Given the description of an element on the screen output the (x, y) to click on. 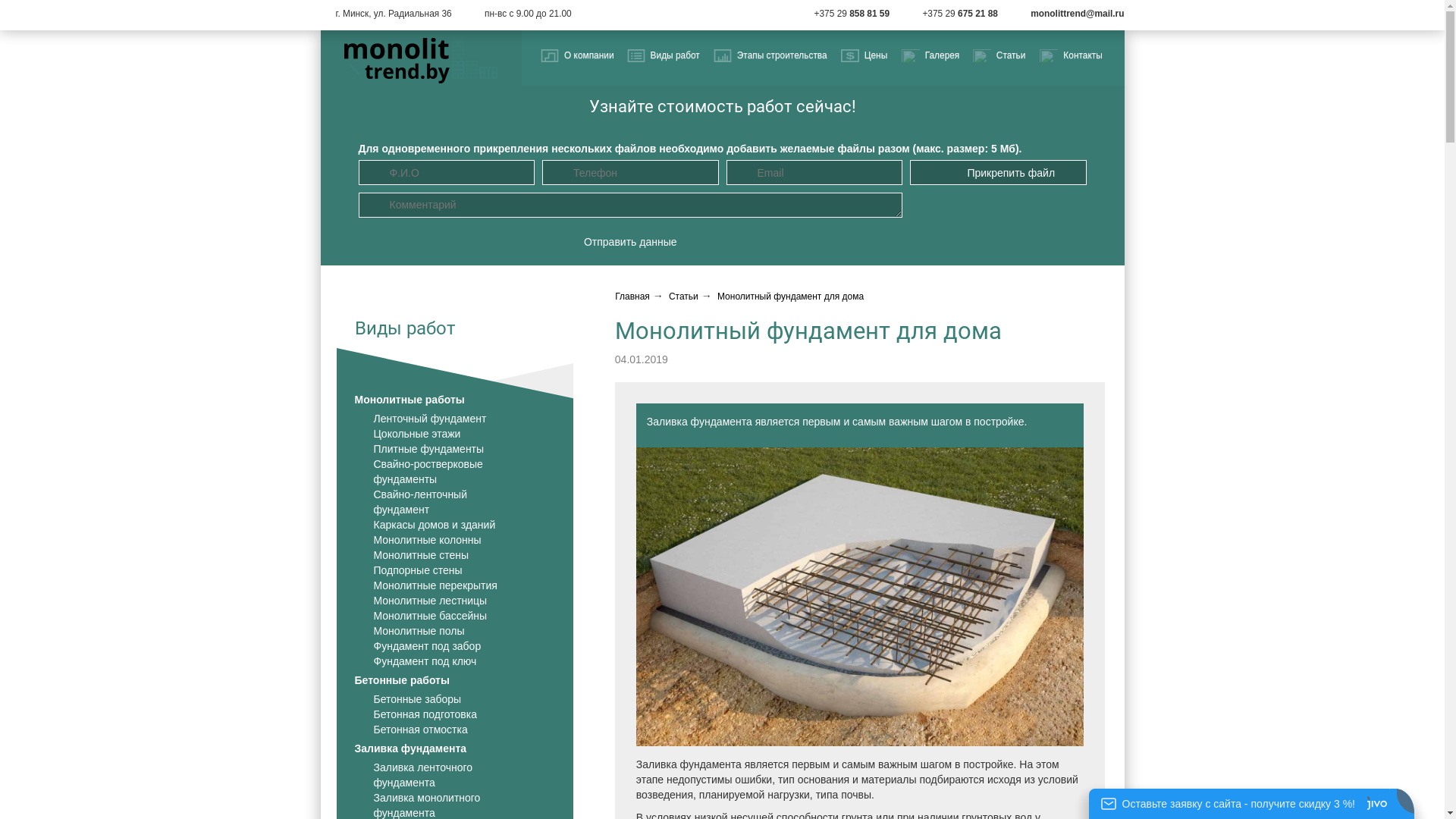
monolittrend@mail.ru Element type: text (1076, 13)
+375 29 675 21 88 Element type: text (959, 13)
+375 29 858 81 59 Element type: text (852, 13)
